Given the description of an element on the screen output the (x, y) to click on. 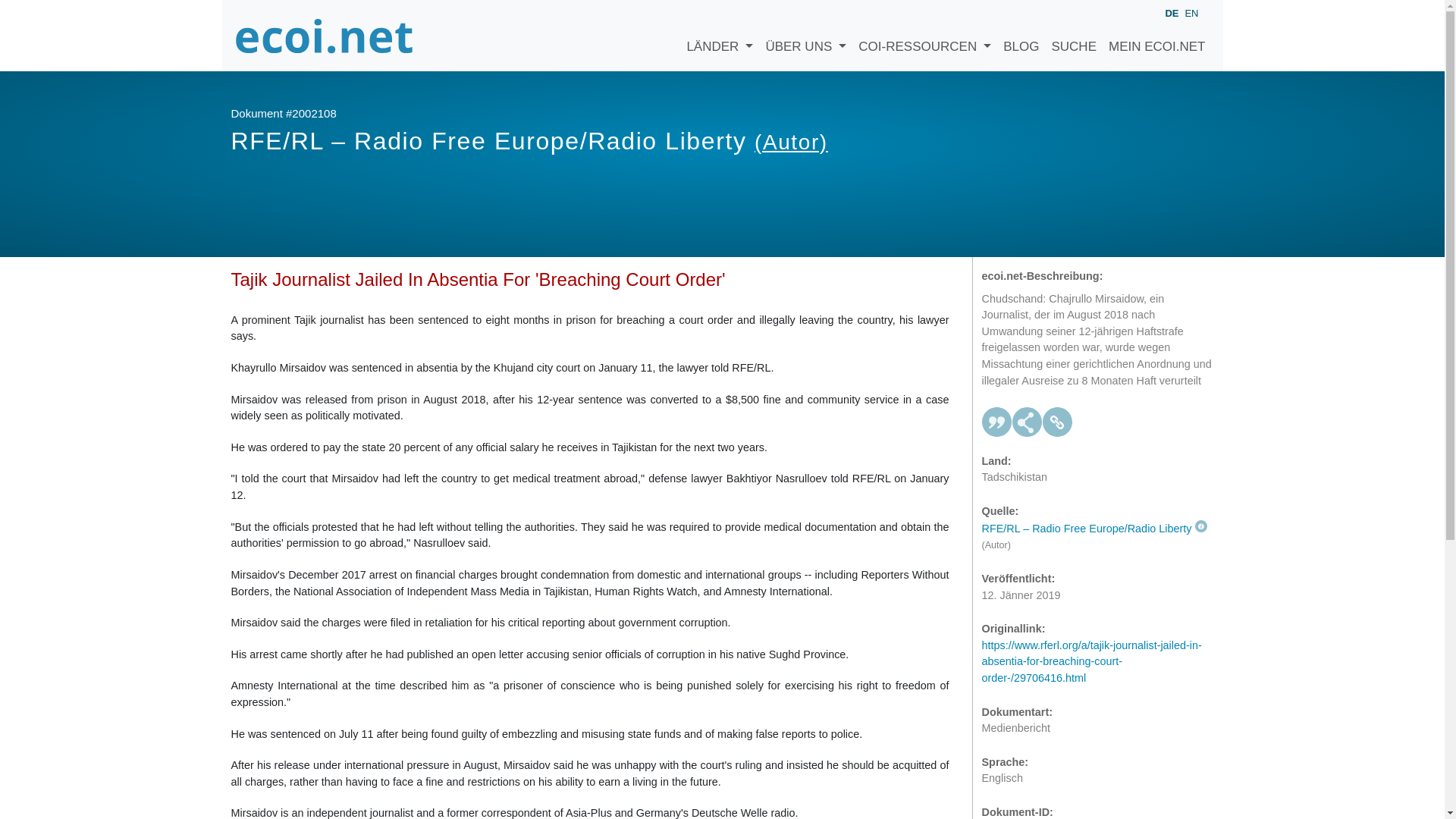
BLOG (1021, 35)
Deutsch (1170, 13)
COI-RESSOURCEN (924, 35)
Zitieren als (996, 422)
EN (1190, 12)
Englisch (1190, 12)
SUCHE (1073, 35)
Teilen (1026, 422)
Quellenbeschreibung lesen (1094, 528)
Zur Startseite von ecoi.net gehen (323, 35)
